Given the description of an element on the screen output the (x, y) to click on. 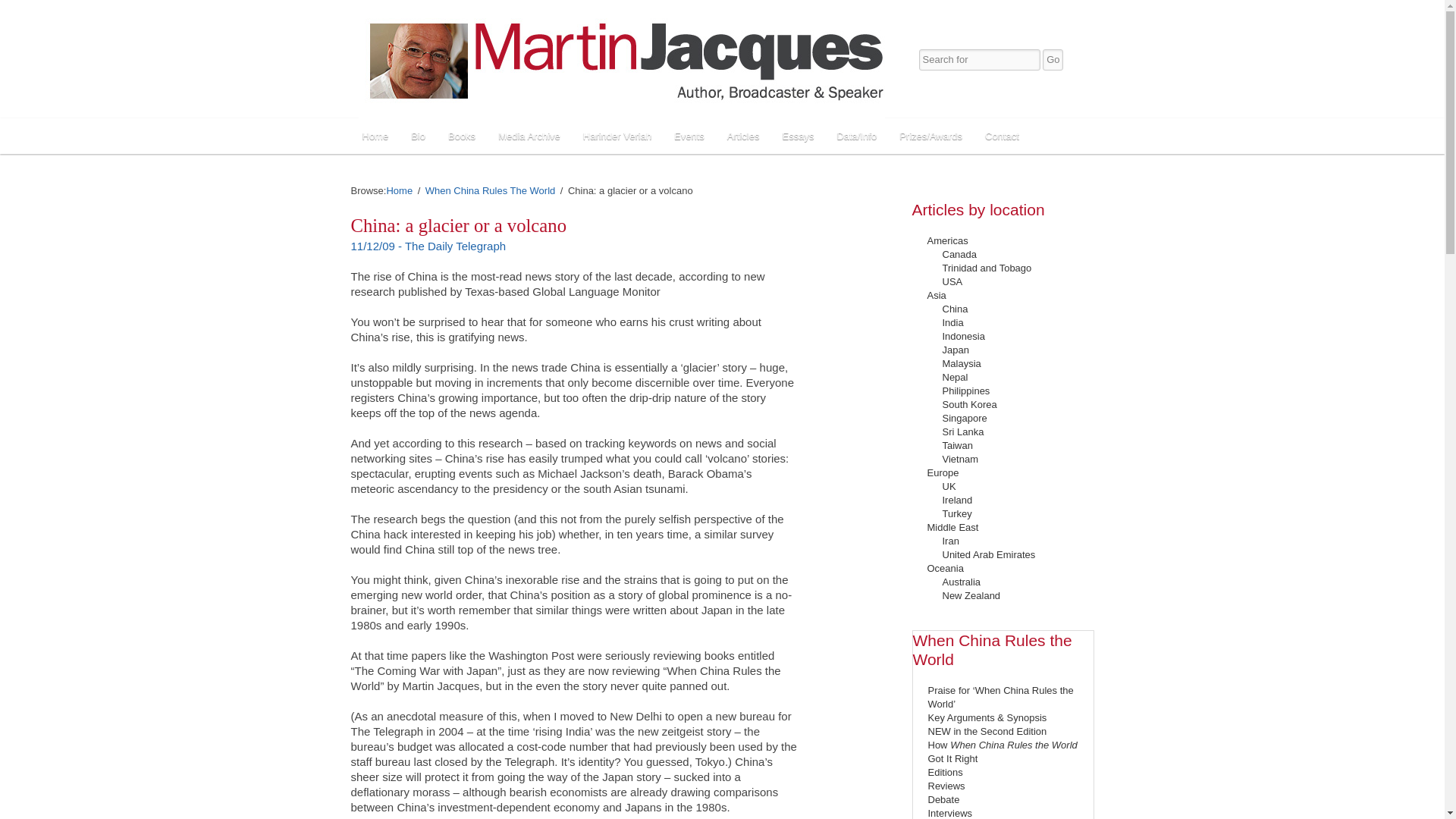
Search for (979, 59)
Home (374, 135)
Harinder Veriah (617, 135)
Media Archive (529, 135)
Go (1052, 59)
Articles (743, 135)
Bio (417, 135)
Events (689, 135)
Essays (797, 135)
Books (461, 135)
Go (1052, 59)
